Given the description of an element on the screen output the (x, y) to click on. 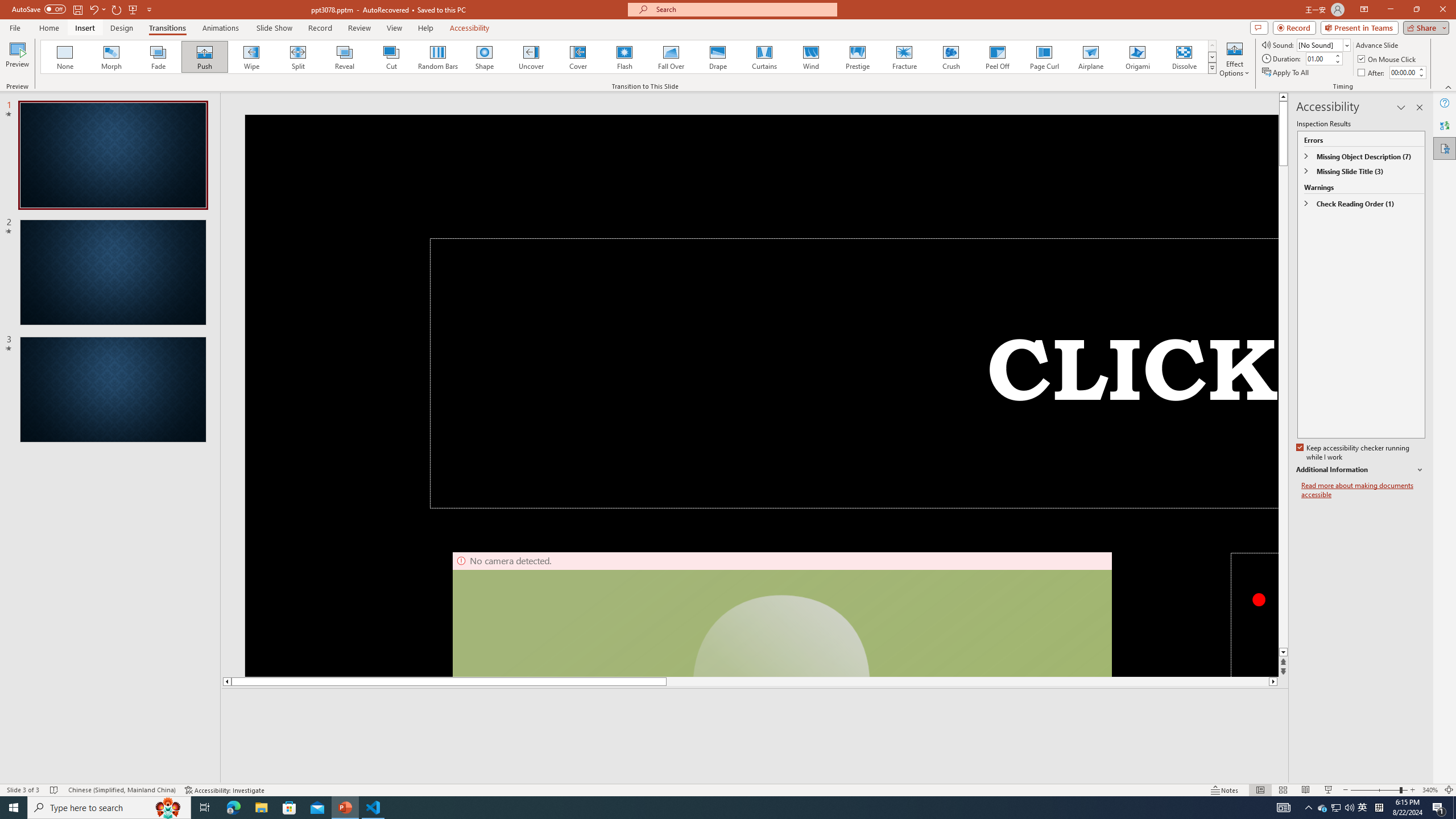
Curtains (764, 56)
Reveal (344, 56)
Read more about making documents accessible (1363, 489)
